Given the description of an element on the screen output the (x, y) to click on. 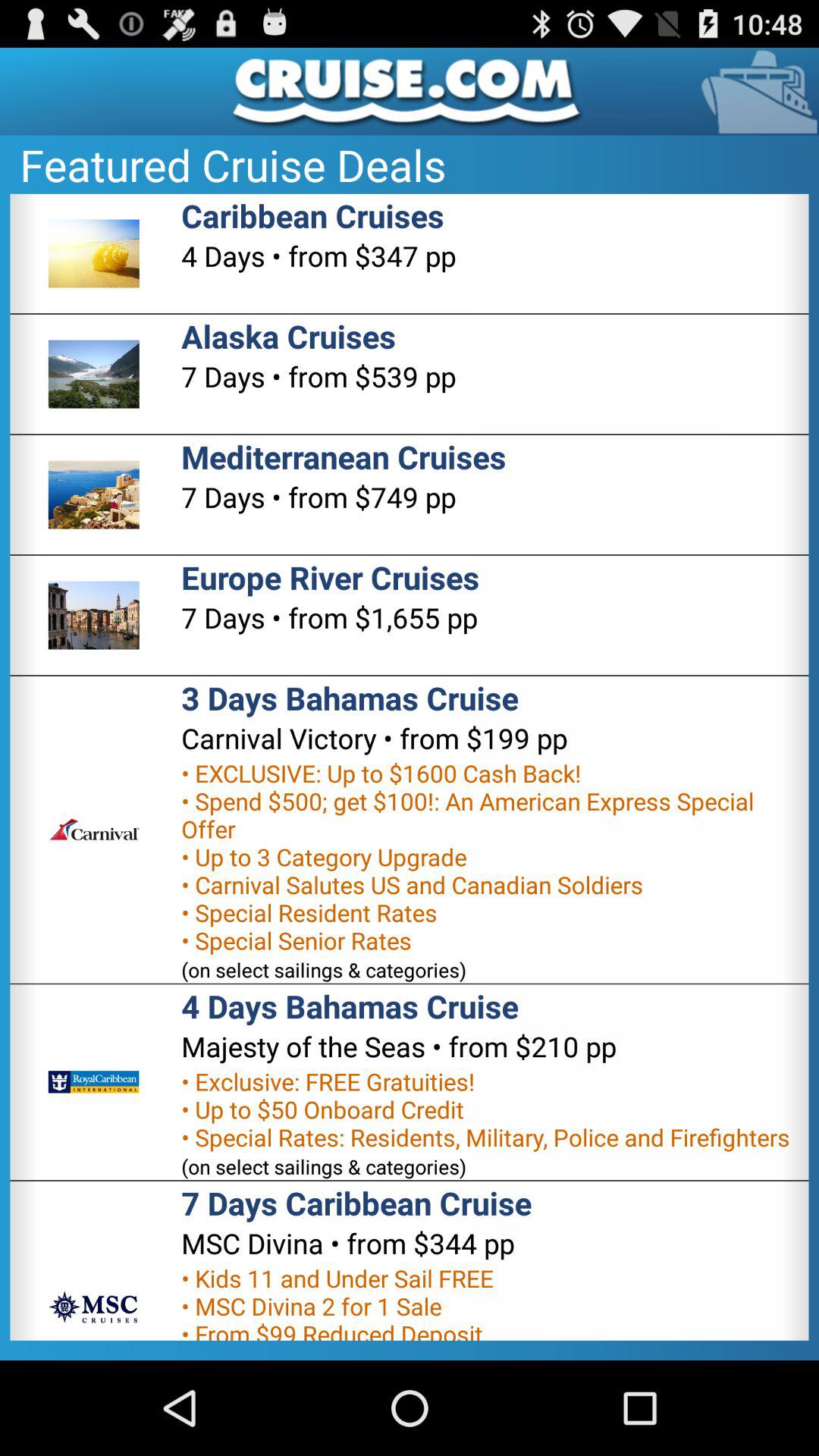
scroll until the majesty of the (398, 1046)
